Given the description of an element on the screen output the (x, y) to click on. 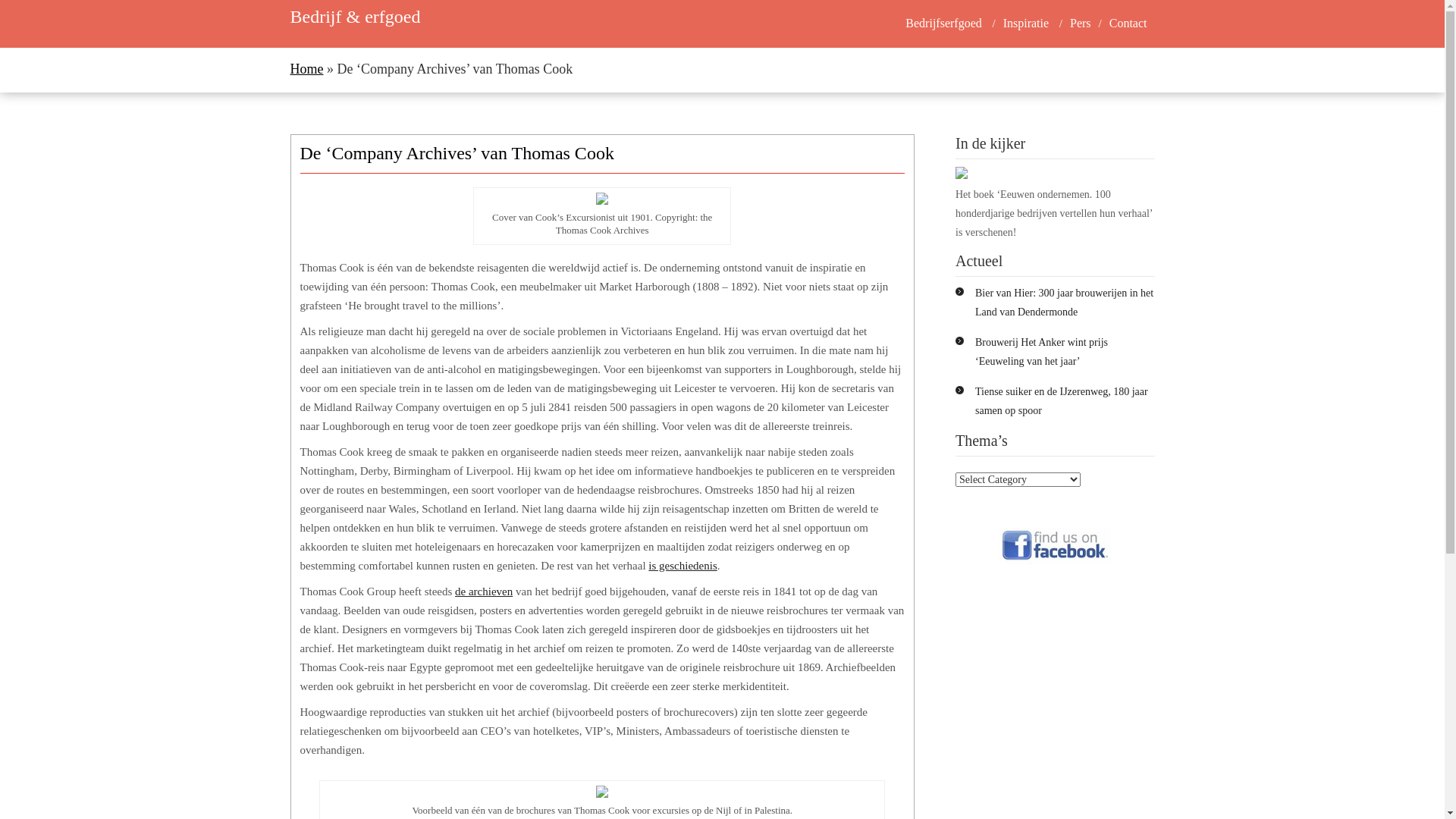
Home Element type: text (306, 68)
Inspiratie Element type: text (1025, 24)
is geschiedenis Element type: text (682, 565)
Contact Element type: text (1127, 24)
Bedrijfserfgoed Element type: text (942, 24)
Bedrijf & erfgoed Element type: text (354, 16)
de archieven Element type: text (483, 591)
Pers Element type: text (1080, 24)
Tiense suiker en de IJzerenweg, 180 jaar samen op spoor Element type: text (1061, 400)
